Given the description of an element on the screen output the (x, y) to click on. 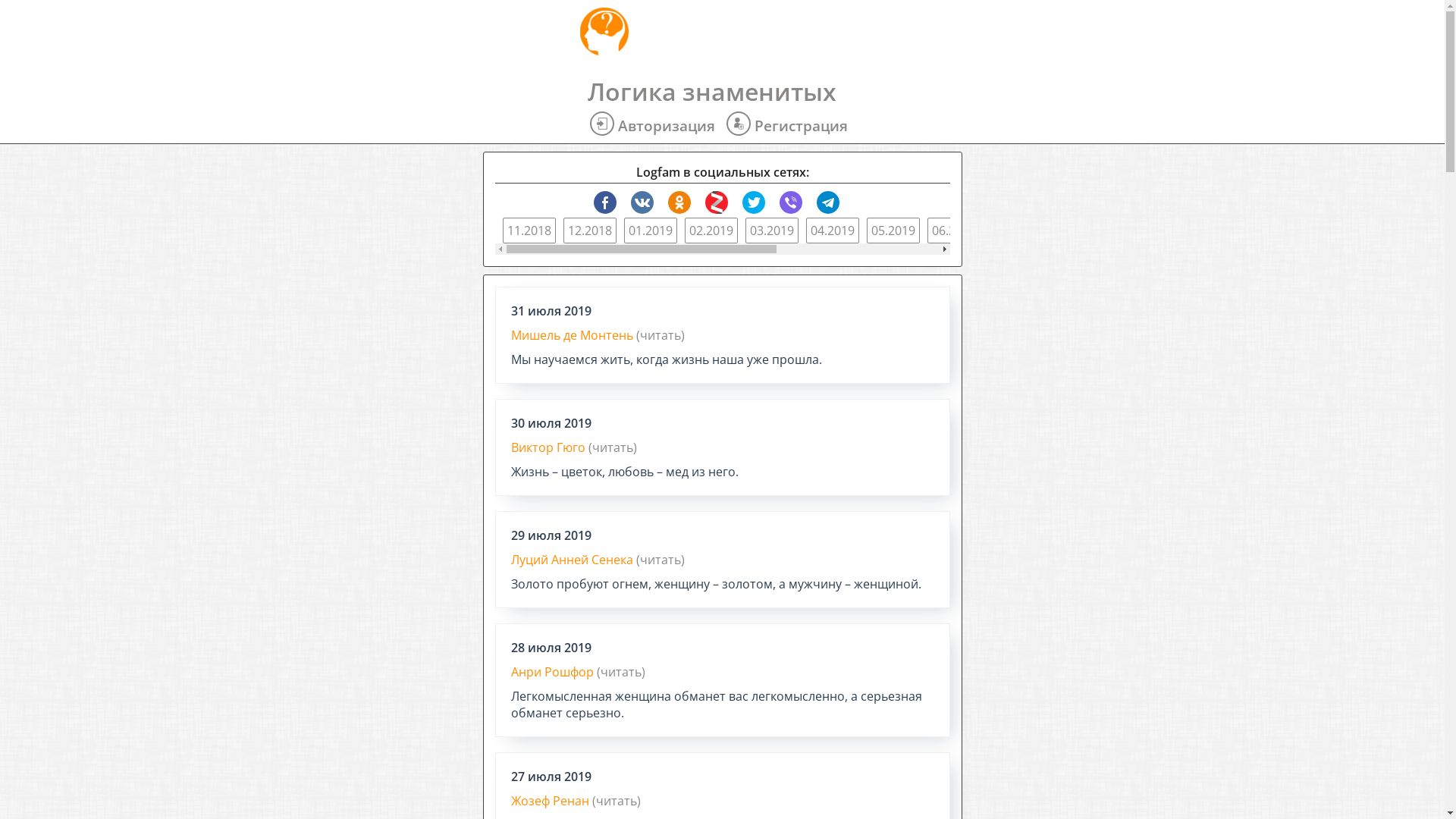
11.2018 Element type: text (528, 230)
Twitter Element type: hover (753, 202)
Facebook Element type: hover (604, 202)
04.2019 Element type: text (831, 230)
Viber Element type: hover (790, 202)
03.2019 Element type: text (771, 230)
06.2019 Element type: text (953, 230)
08.2019 Element type: text (1074, 230)
05.2019 Element type: text (892, 230)
07.2019 Element type: text (1013, 230)
12.2018 Element type: text (589, 230)
09.2019 Element type: text (1135, 230)
02.2019 Element type: text (710, 230)
01.2019 Element type: text (649, 230)
10.2019 Element type: text (1195, 230)
